Given the description of an element on the screen output the (x, y) to click on. 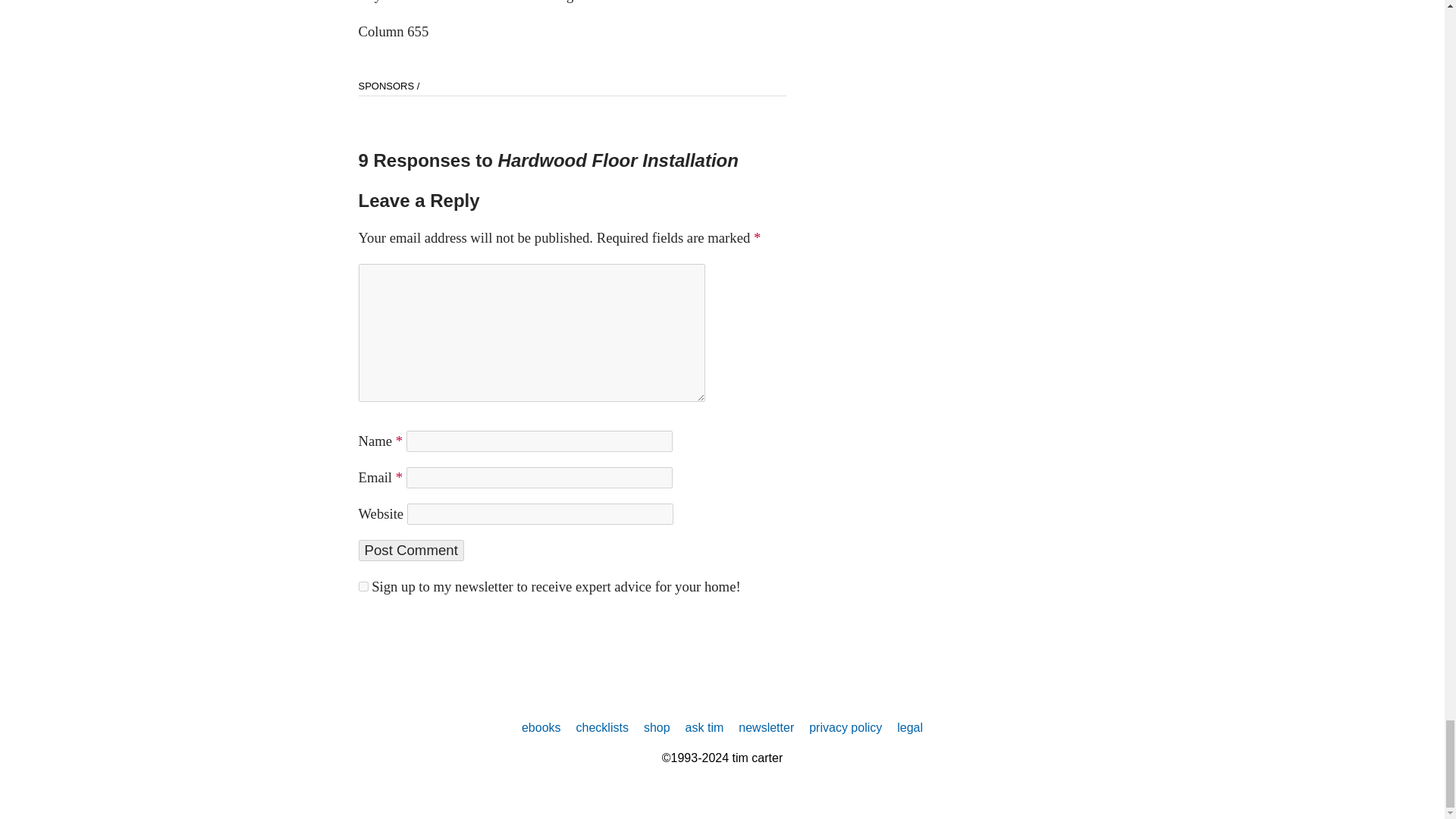
privacy policy (845, 727)
Post Comment (410, 550)
shop (656, 727)
checklists (602, 727)
1 (363, 586)
legal (909, 727)
ebooks (540, 727)
Post Comment (410, 550)
ask tim (704, 727)
newsletter (765, 727)
